Given the description of an element on the screen output the (x, y) to click on. 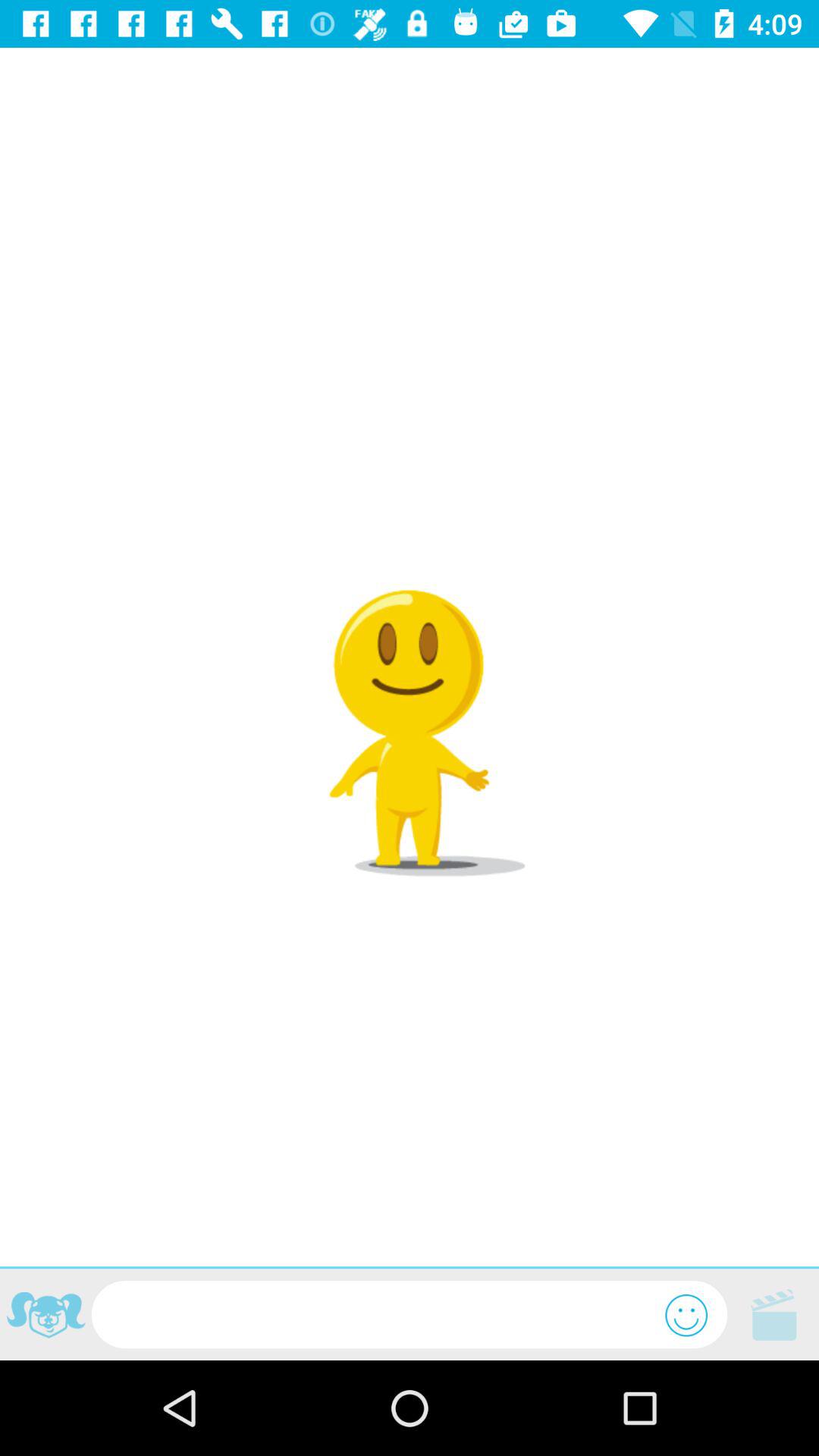
edit clip (773, 1314)
